Given the description of an element on the screen output the (x, y) to click on. 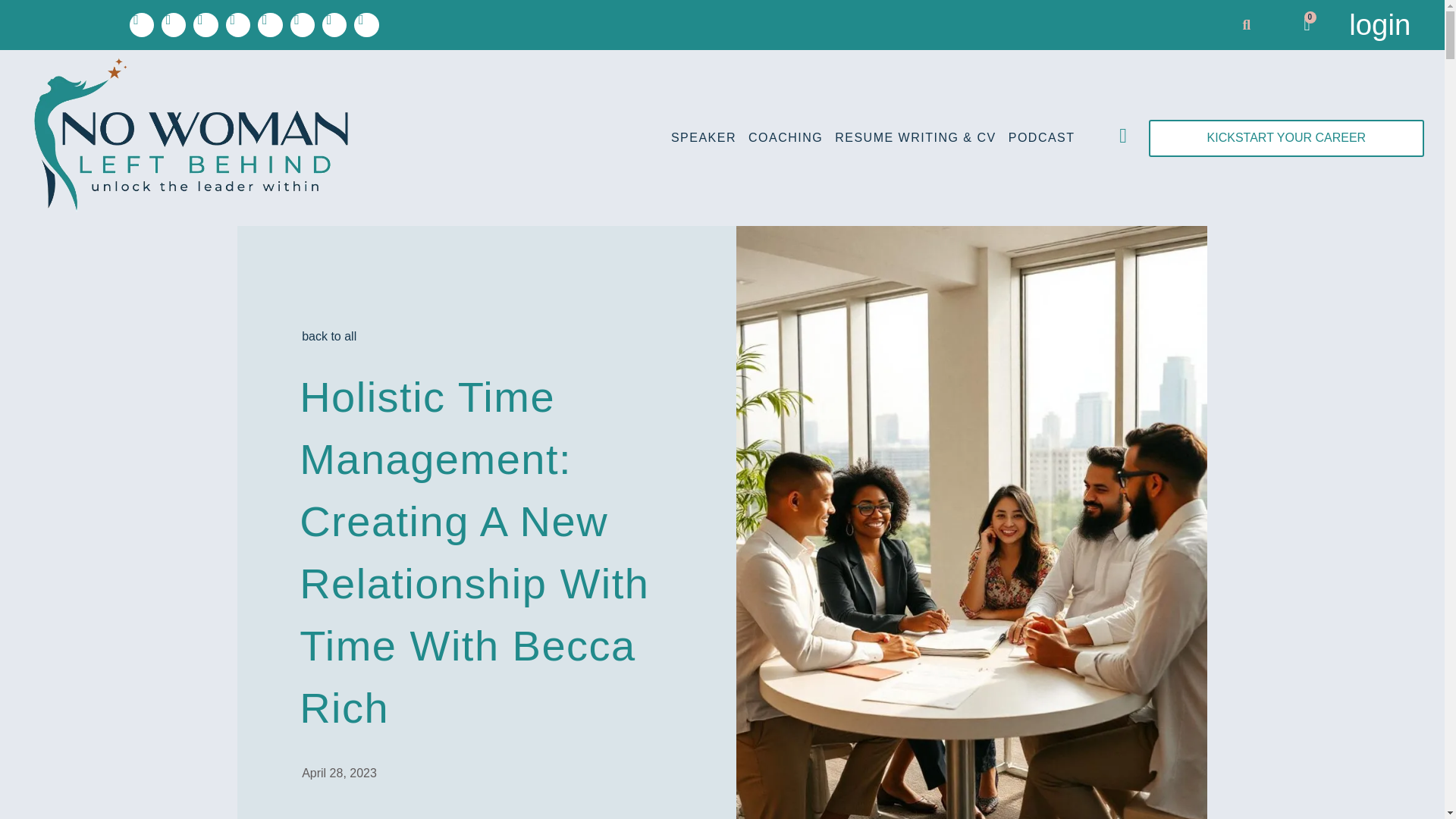
PODCAST (1042, 138)
login (1380, 24)
KICKSTART YOUR CAREER (1285, 138)
back to all (328, 336)
0 (1307, 24)
COACHING (785, 138)
SPEAKER (703, 138)
